Given the description of an element on the screen output the (x, y) to click on. 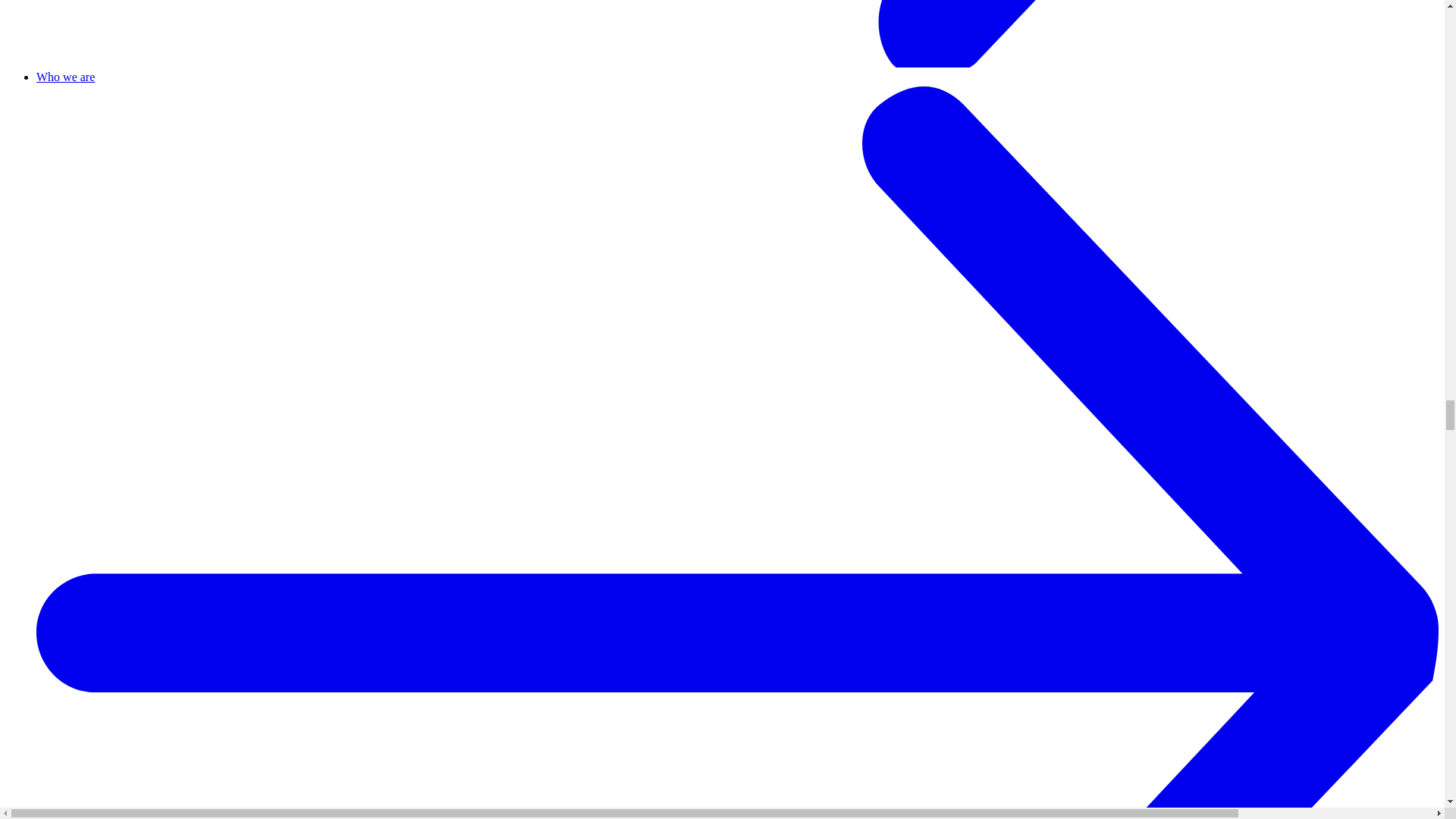
Thinking (737, 34)
